Given the description of an element on the screen output the (x, y) to click on. 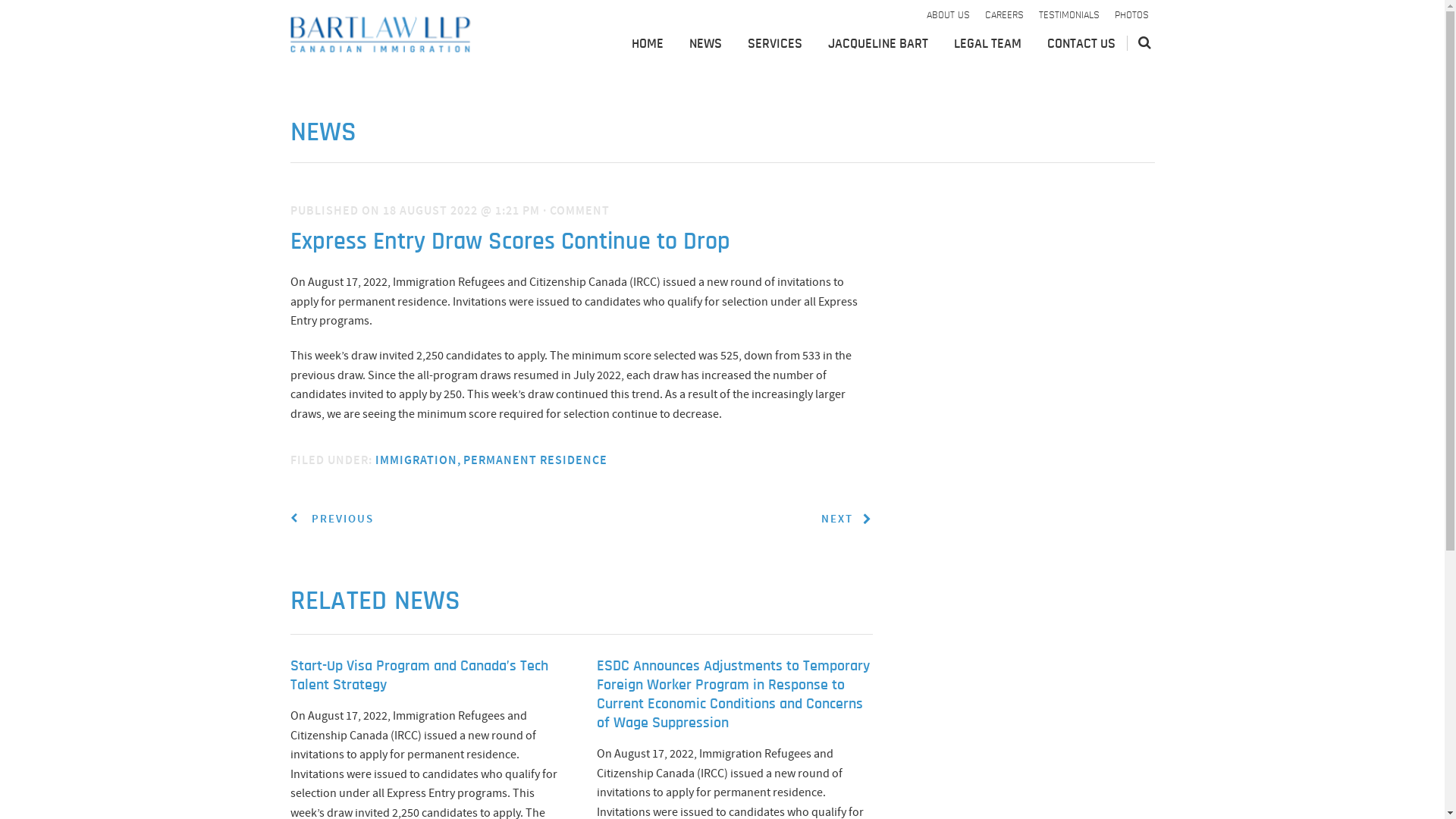
CONTACT US Element type: text (1080, 45)
ABOUT US Element type: text (947, 15)
LEGAL TEAM Element type: text (987, 45)
CAREERS Element type: text (1003, 15)
PERMANENT RESIDENCE Element type: text (534, 459)
HOME Element type: text (646, 45)
PREVIOUS Element type: text (331, 518)
JACQUELINE BART Element type: text (878, 45)
NEWS Element type: text (704, 45)
TESTIMONIALS Element type: text (1068, 15)
IMMIGRATION Element type: text (418, 459)
PHOTOS Element type: text (1131, 15)
SERVICES Element type: text (774, 45)
Subscribe Element type: text (1033, 302)
COMMENT Element type: text (578, 210)
NEXT Element type: text (846, 518)
